Given the description of an element on the screen output the (x, y) to click on. 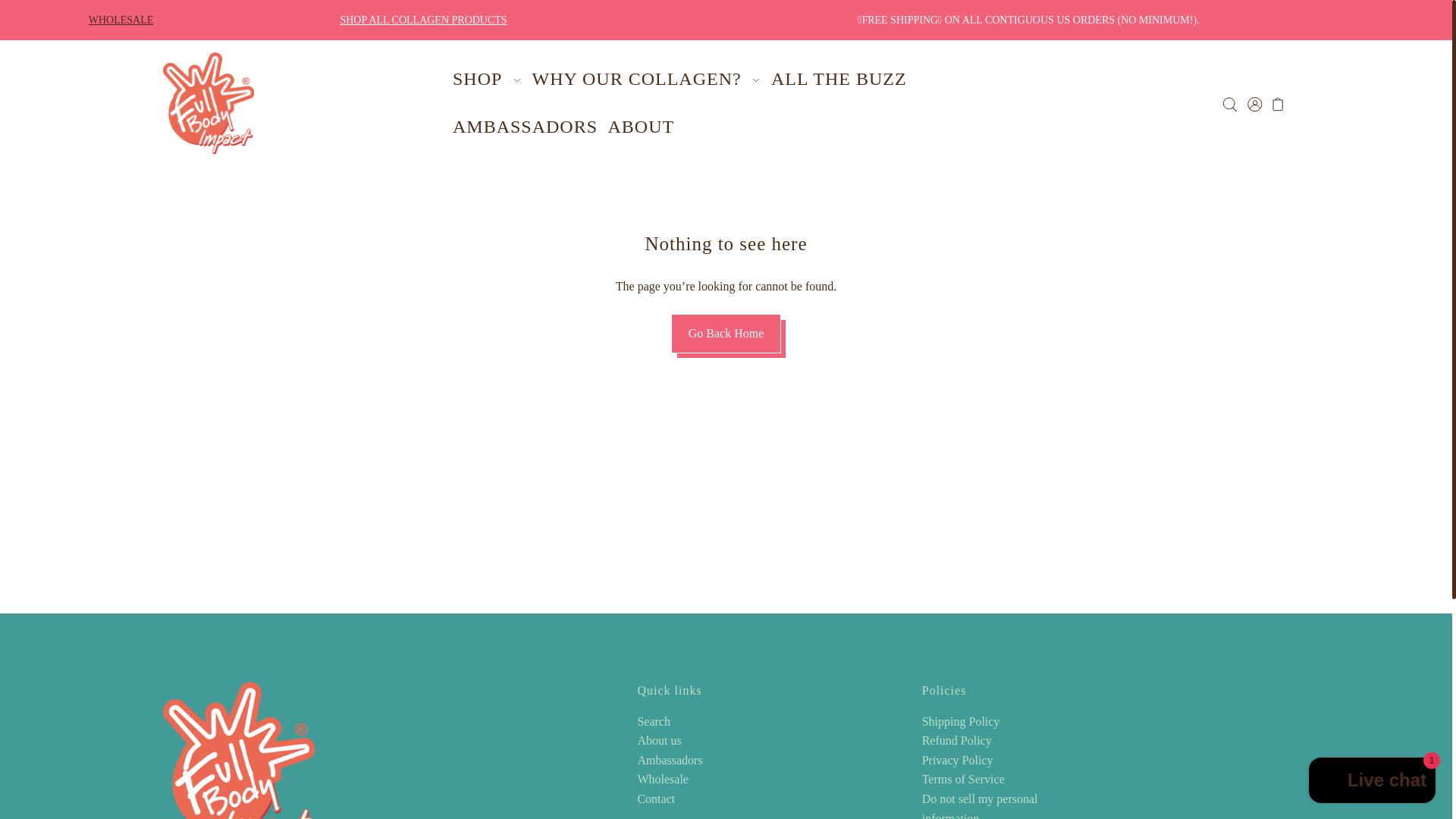
AMBASSADORS (524, 126)
ABOUT (640, 126)
Liquid Collagen Protein Supplements (422, 19)
SHOP ALL COLLAGEN PRODUCTS (422, 19)
Wholesale Liquid Collagen (121, 19)
WHY OUR COLLAGEN? (646, 79)
SHOP (486, 79)
WHOLESALE (121, 19)
ALL THE BUZZ (838, 79)
Shopify online store chat (1371, 781)
Go Back Home (725, 333)
